Given the description of an element on the screen output the (x, y) to click on. 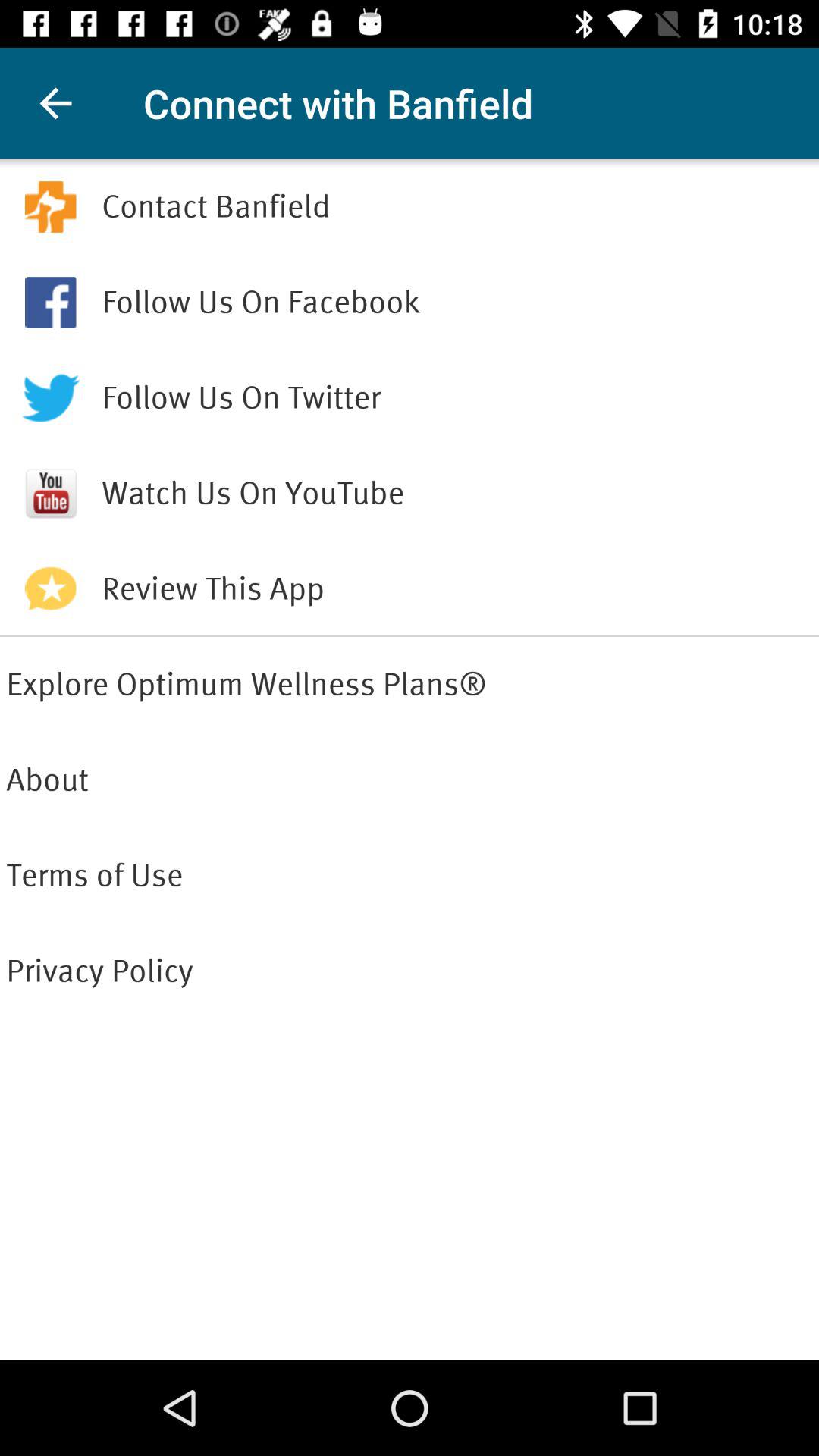
launch the privacy policy item (409, 971)
